Given the description of an element on the screen output the (x, y) to click on. 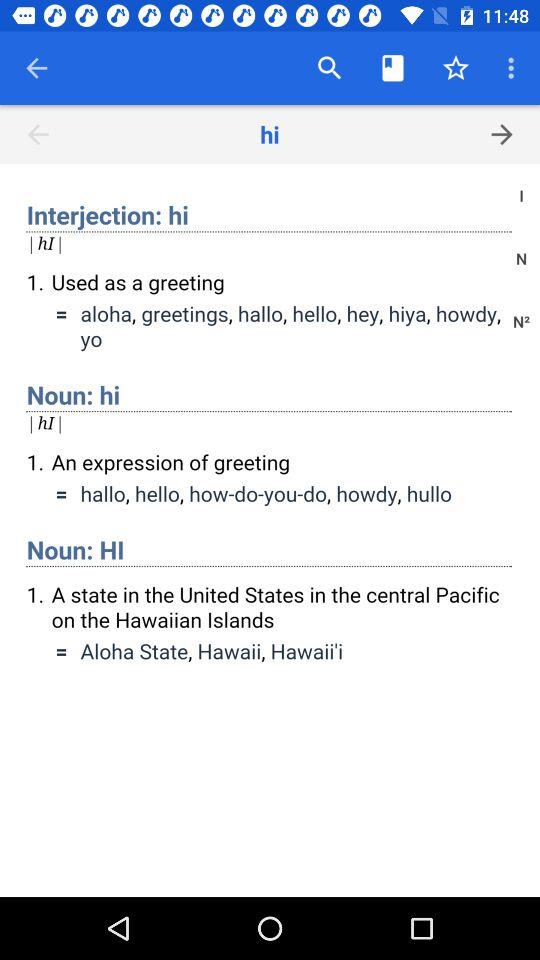
information about the searched word (270, 530)
